Given the description of an element on the screen output the (x, y) to click on. 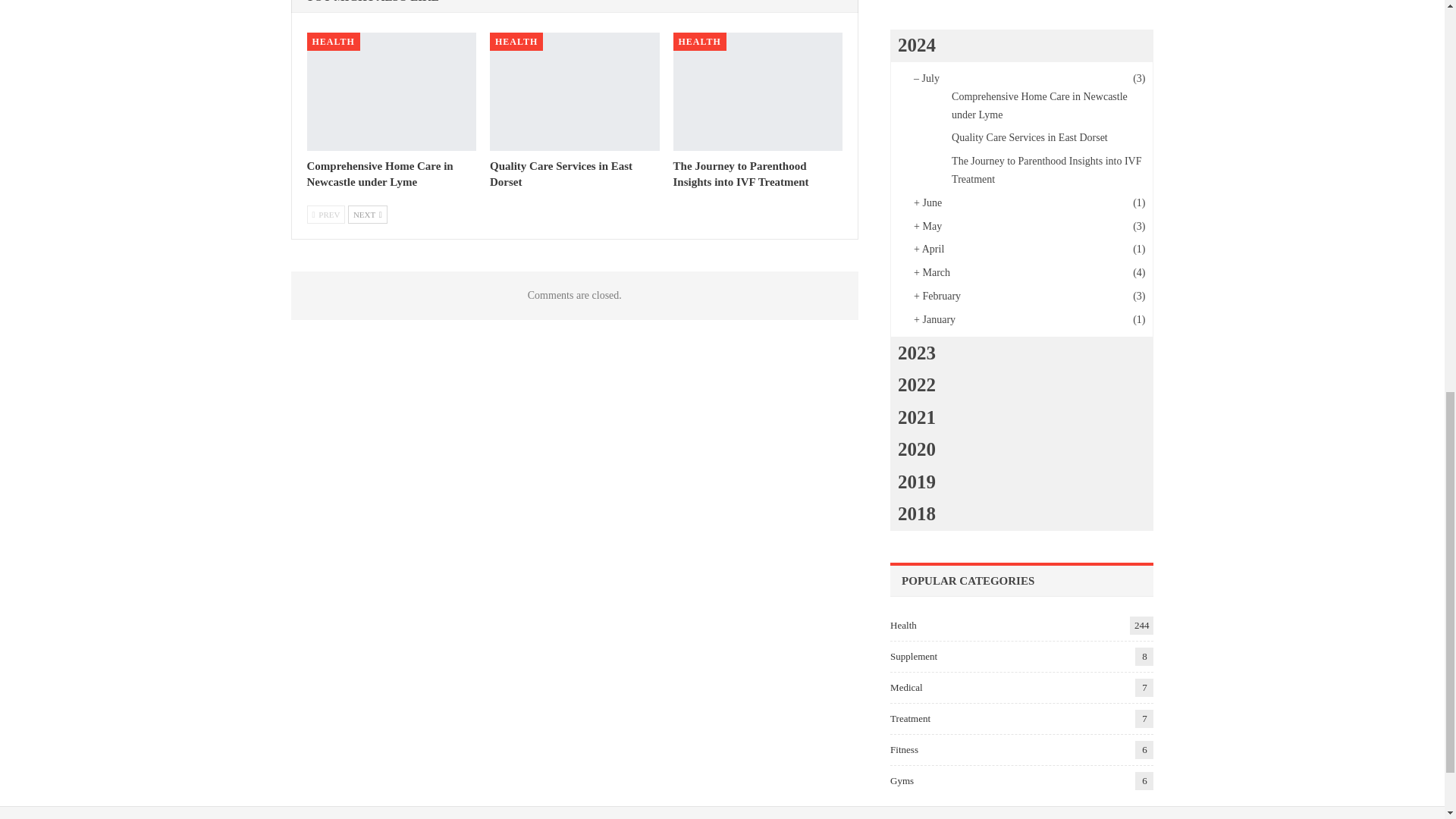
Next (367, 214)
YOU MIGHT ALSO LIKE (372, 1)
PREV (325, 214)
NEXT (367, 214)
Quality Care Services in East Dorset (574, 91)
Comprehensive Home Care in Newcastle under Lyme (378, 173)
The Journey to Parenthood Insights into IVF Treatment (740, 173)
HEALTH (516, 41)
The Journey to Parenthood Insights into IVF Treatment (740, 173)
Comprehensive Home Care in Newcastle under Lyme (390, 91)
The Journey to Parenthood Insights into IVF Treatment (757, 91)
Quality Care Services in East Dorset (560, 173)
HEALTH (699, 41)
Comprehensive Home Care in Newcastle under Lyme (378, 173)
Quality Care Services in East Dorset (560, 173)
